Given the description of an element on the screen output the (x, y) to click on. 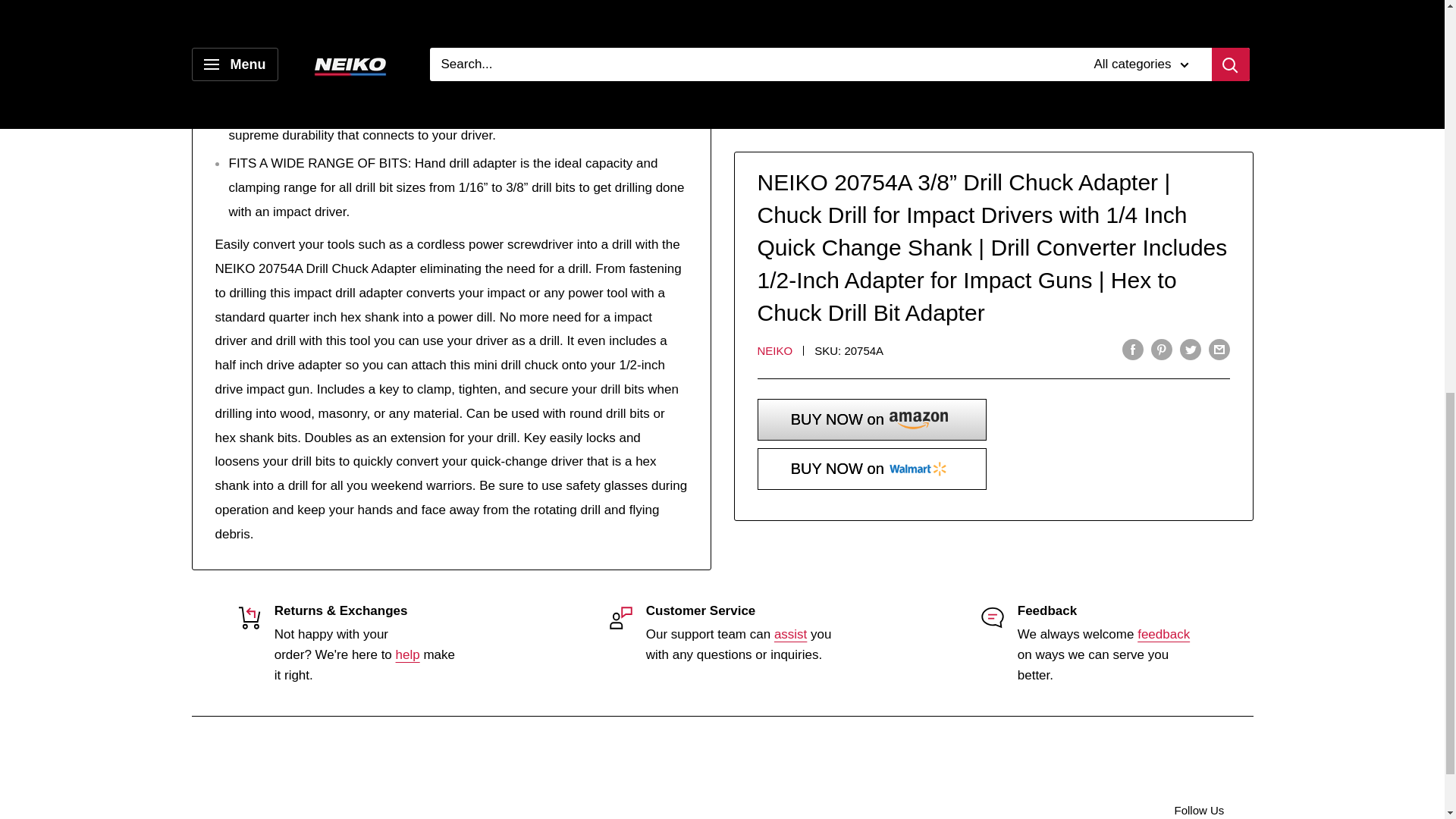
Contact (790, 634)
Contact (1163, 634)
Support (408, 654)
